Given the description of an element on the screen output the (x, y) to click on. 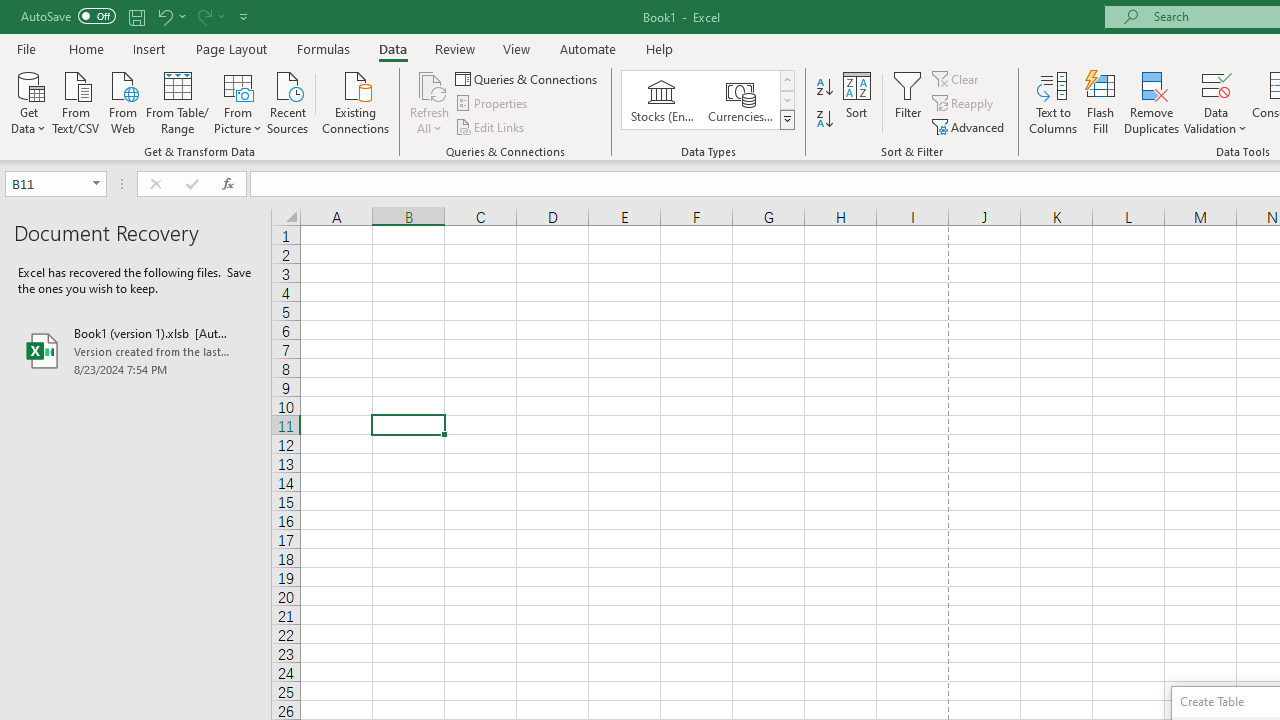
Row up (786, 79)
Filter (908, 102)
From Web (122, 101)
